Given the description of an element on the screen output the (x, y) to click on. 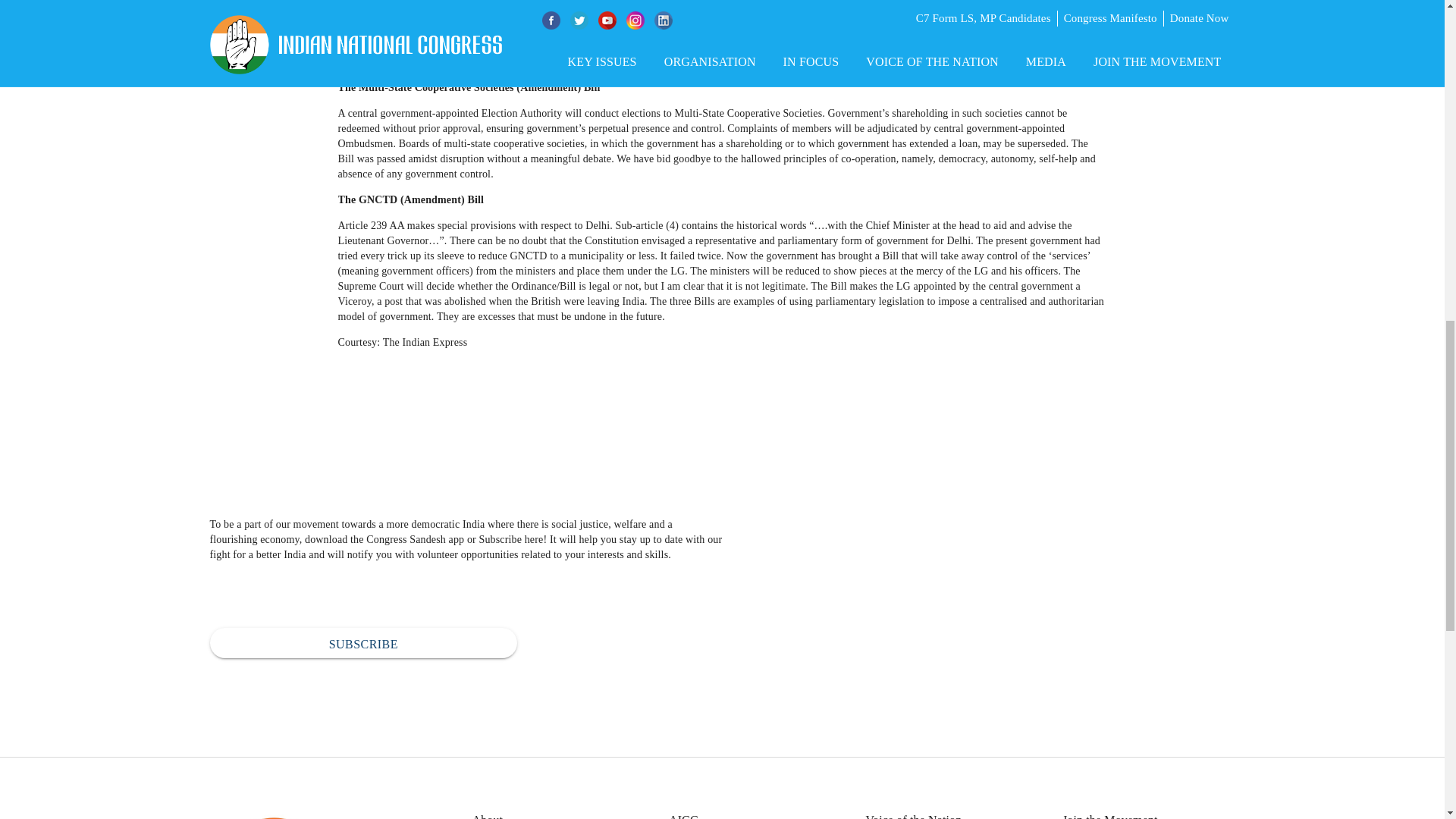
SUBSCRIBE (362, 643)
